Given the description of an element on the screen output the (x, y) to click on. 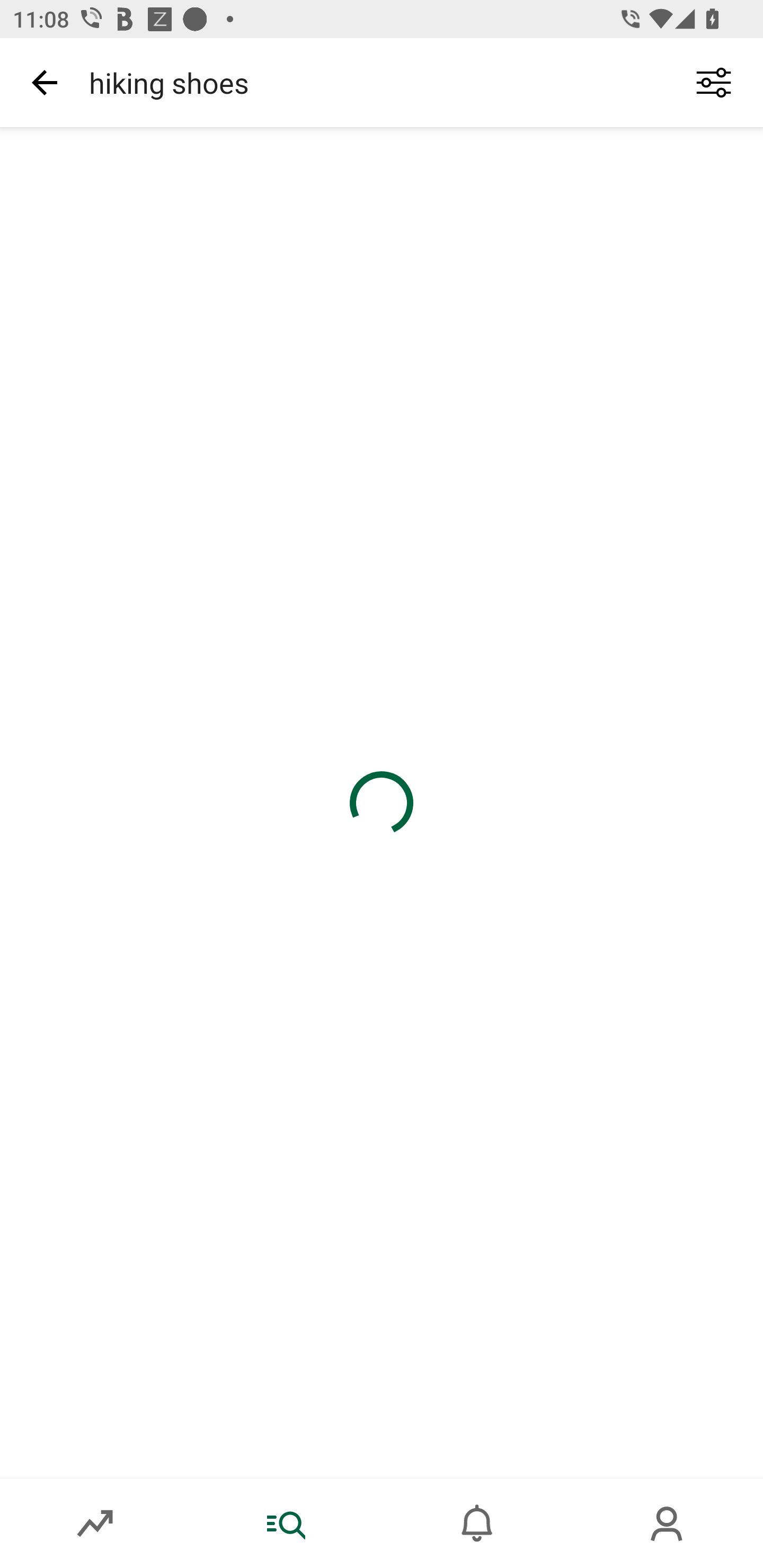
hiking shoes (370, 82)
Market (95, 1523)
Inbox (476, 1523)
Account (667, 1523)
